Given the description of an element on the screen output the (x, y) to click on. 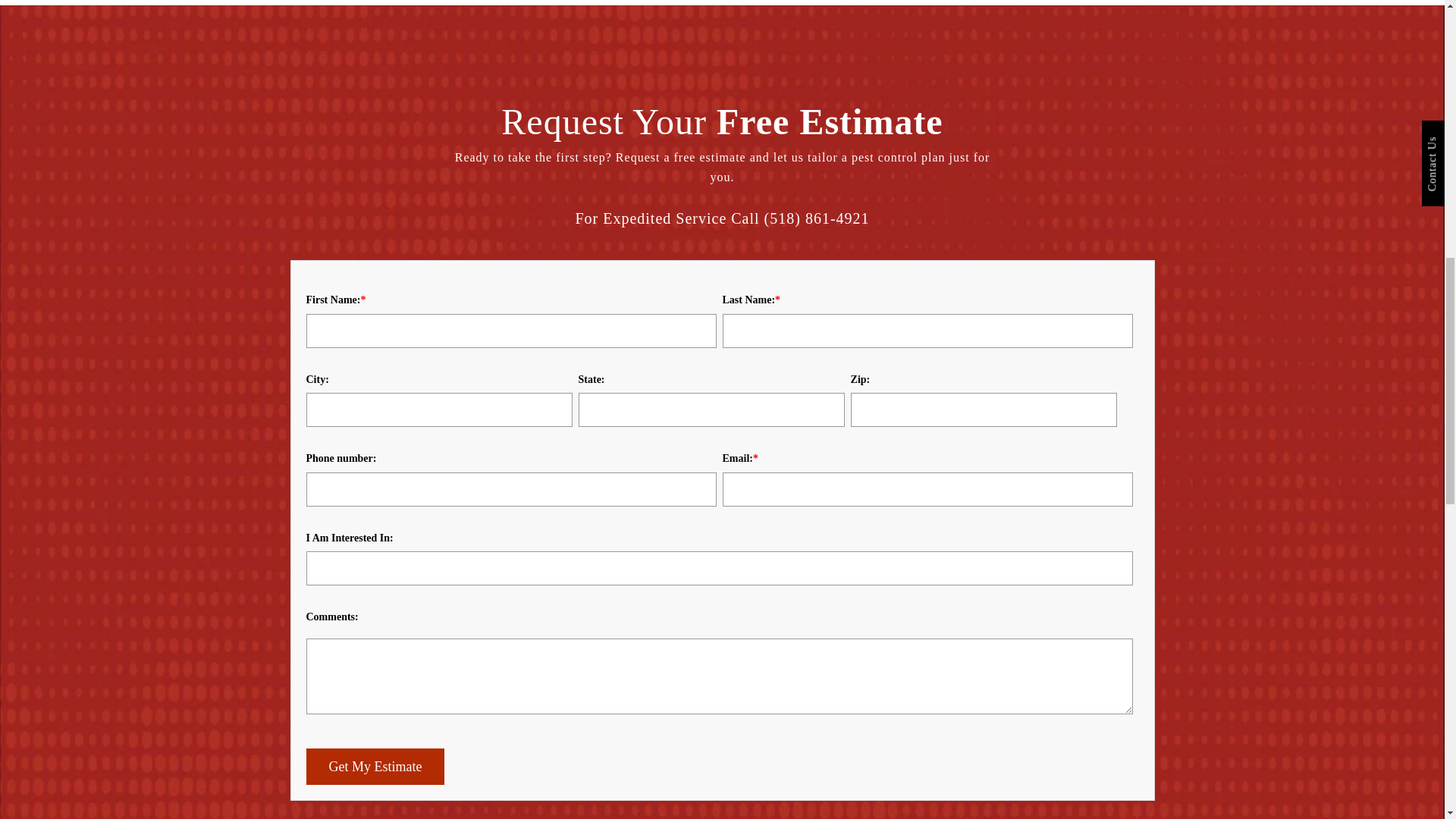
Get My Estimate (375, 766)
